Given the description of an element on the screen output the (x, y) to click on. 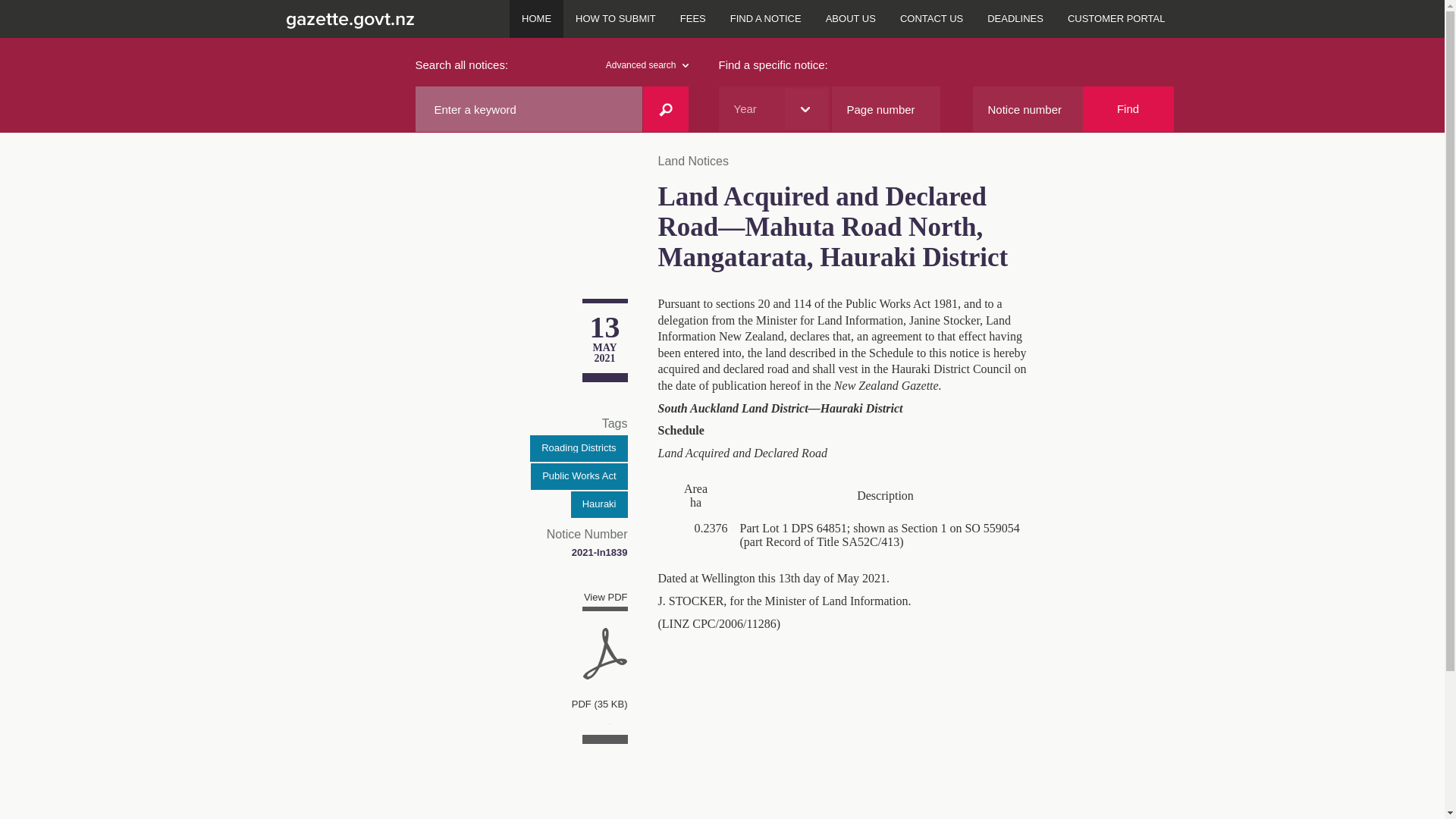
HOME (536, 18)
CUSTOMER PORTAL (1116, 18)
HOW TO SUBMIT (615, 18)
Roading Districts (578, 447)
DEADLINES (1015, 18)
FEES (692, 18)
Advanced search (646, 65)
Hauraki (598, 504)
Find (1128, 108)
ABOUT US (850, 18)
Gazette.govt.nz (347, 18)
Find (1128, 108)
Public Works Act (579, 476)
FIND A NOTICE (765, 18)
CONTACT US (931, 18)
